Given the description of an element on the screen output the (x, y) to click on. 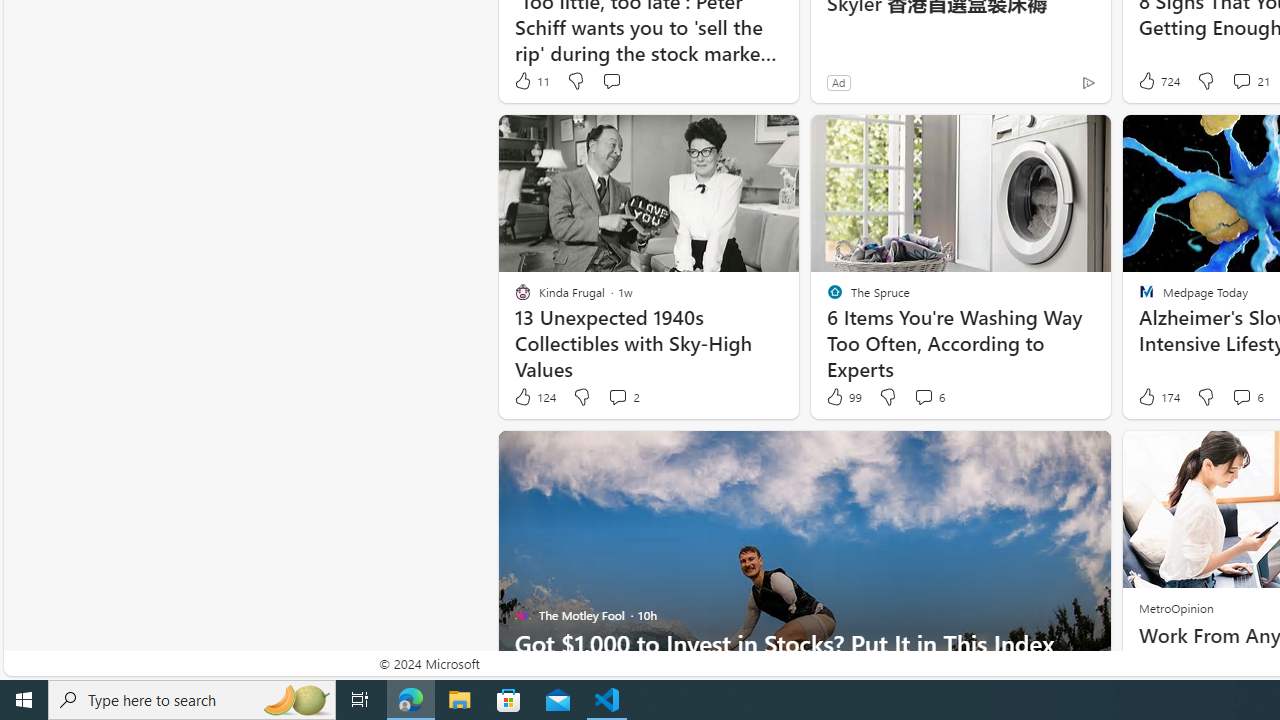
View comments 2 Comment (617, 396)
Hide this story (1050, 454)
